Given the description of an element on the screen output the (x, y) to click on. 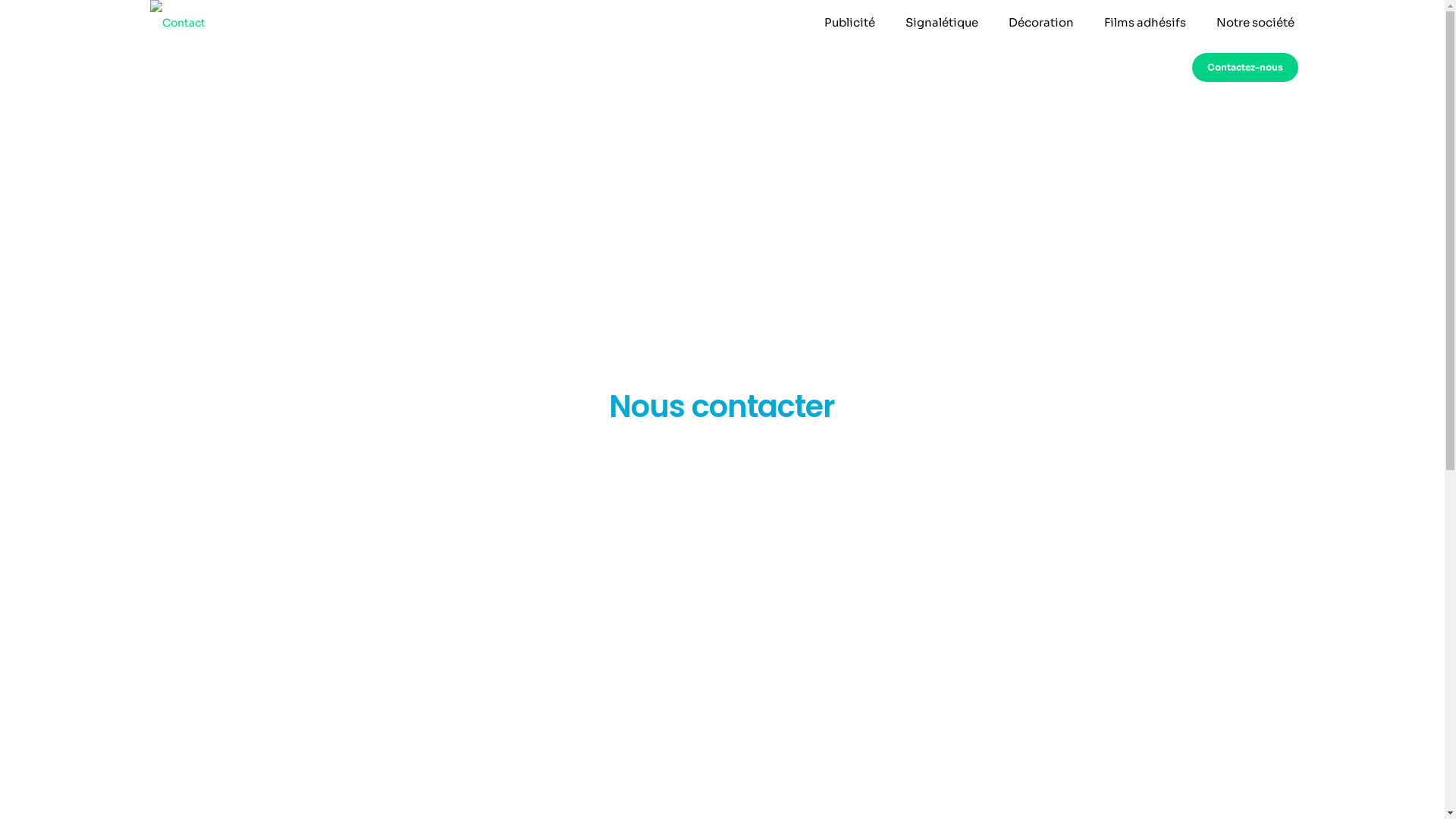
Contactez-nous Element type: text (1245, 67)
